Given the description of an element on the screen output the (x, y) to click on. 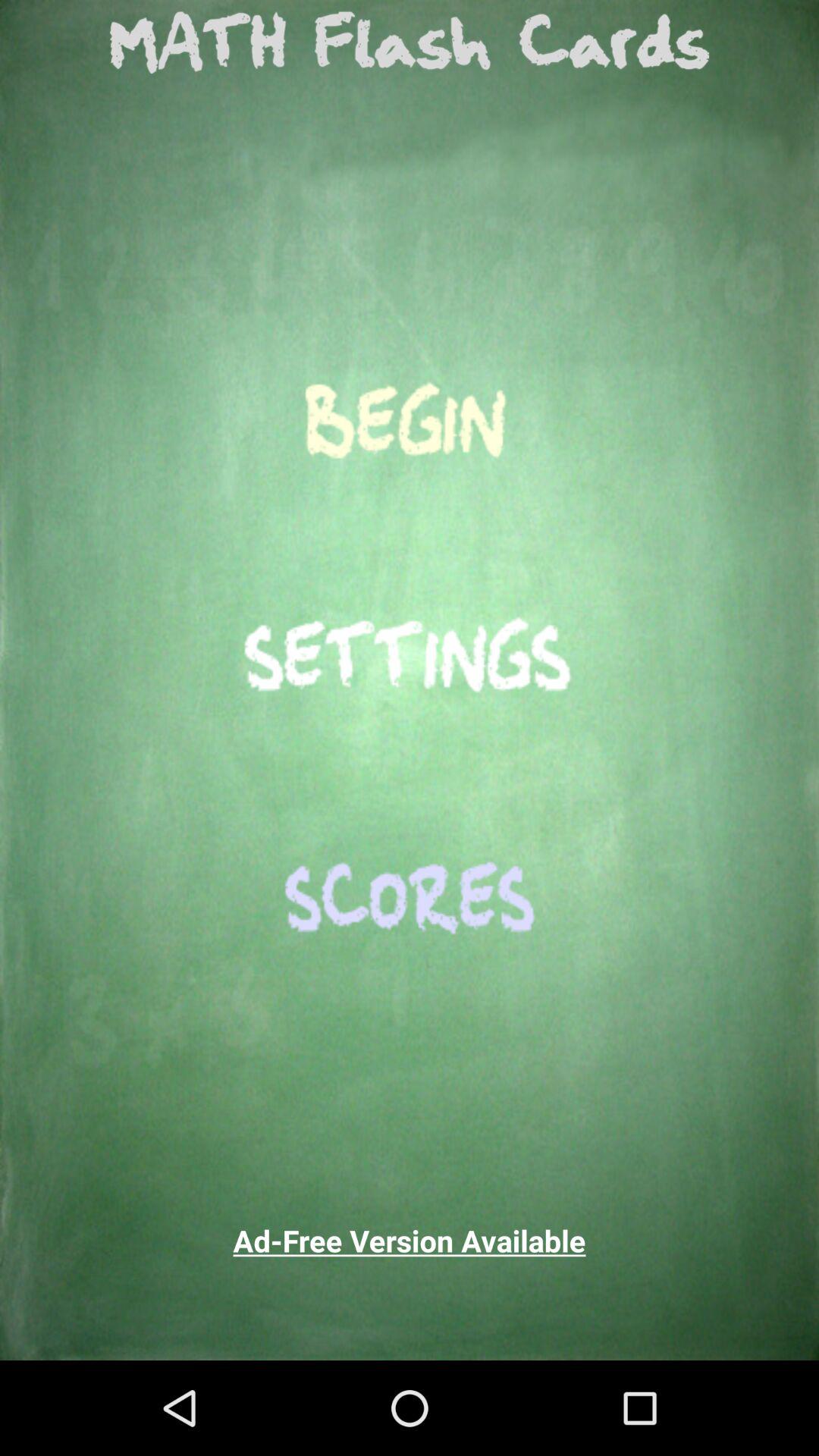
launch the ad free version at the bottom (409, 1240)
